Given the description of an element on the screen output the (x, y) to click on. 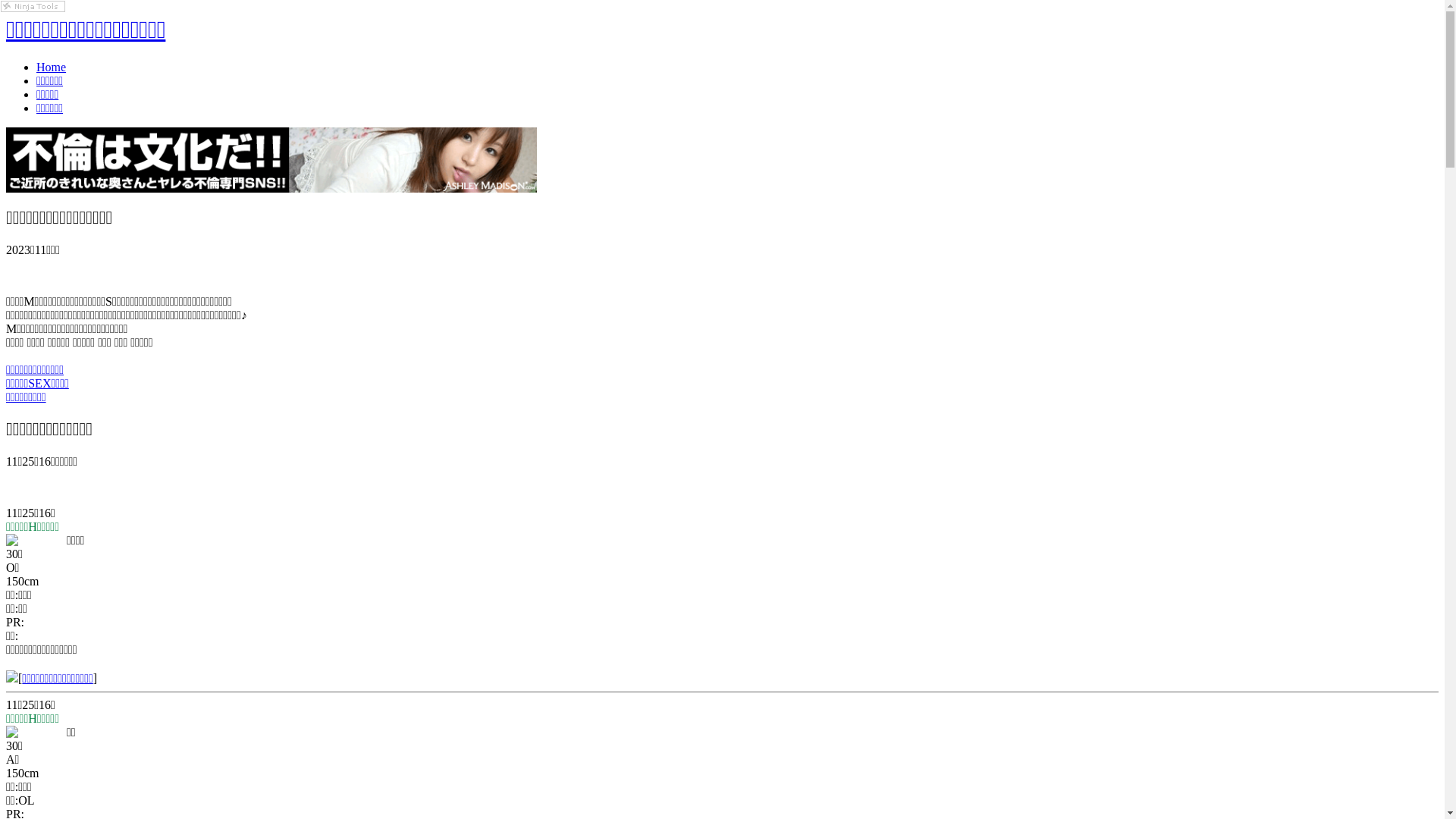
Home Element type: text (50, 66)
